Given the description of an element on the screen output the (x, y) to click on. 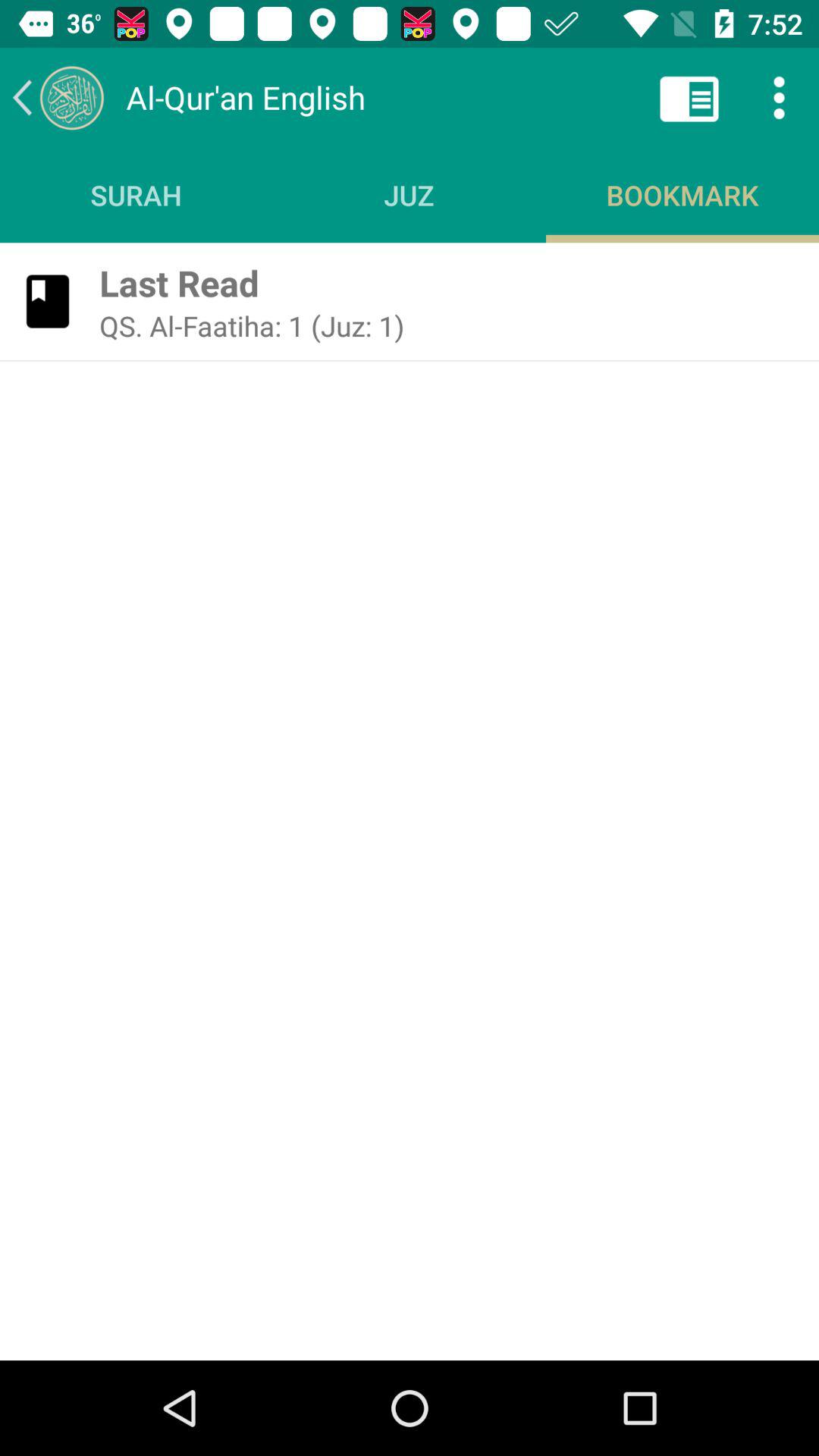
open menu (779, 97)
